Given the description of an element on the screen output the (x, y) to click on. 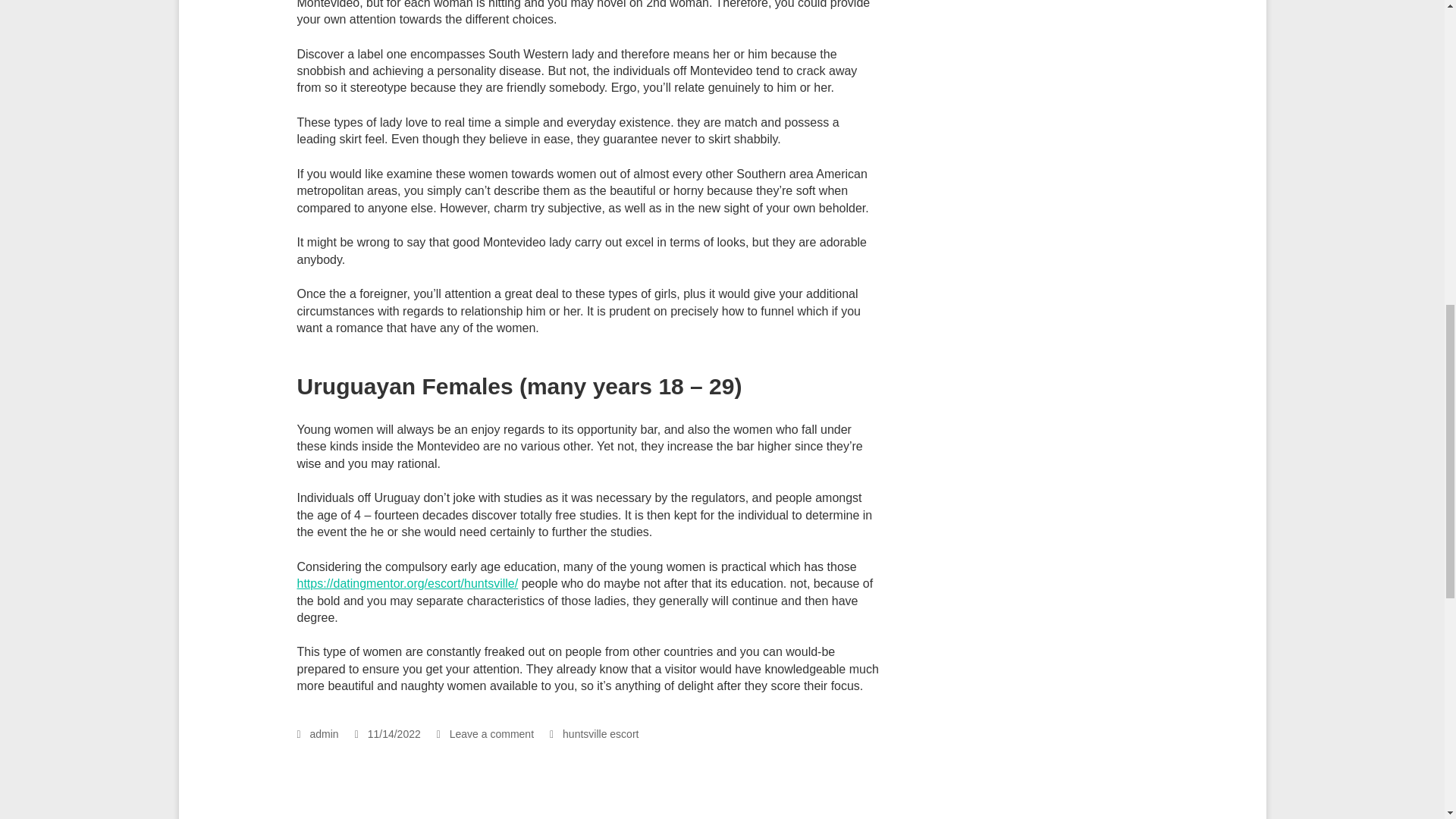
huntsville escort (600, 734)
admin (318, 734)
